Given the description of an element on the screen output the (x, y) to click on. 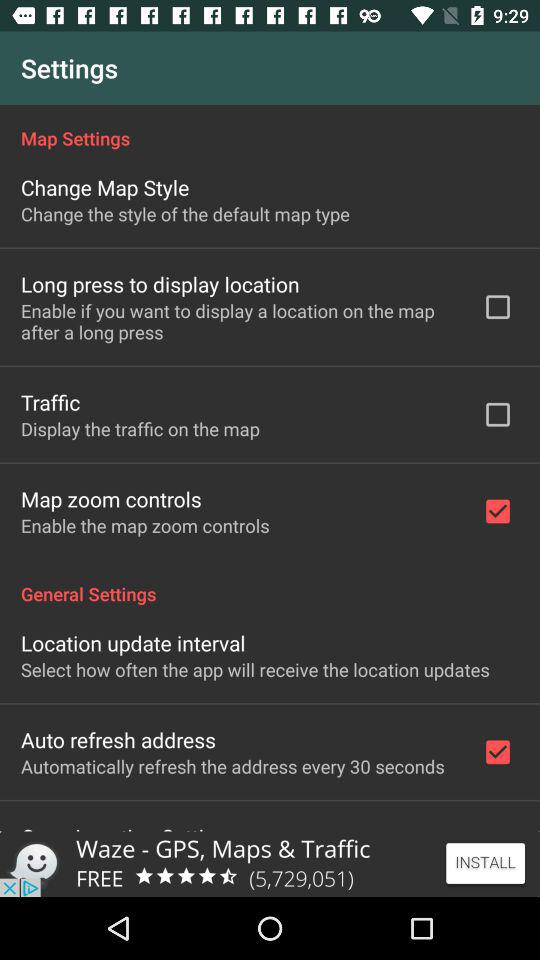
open the app above auto refresh address app (255, 669)
